Given the description of an element on the screen output the (x, y) to click on. 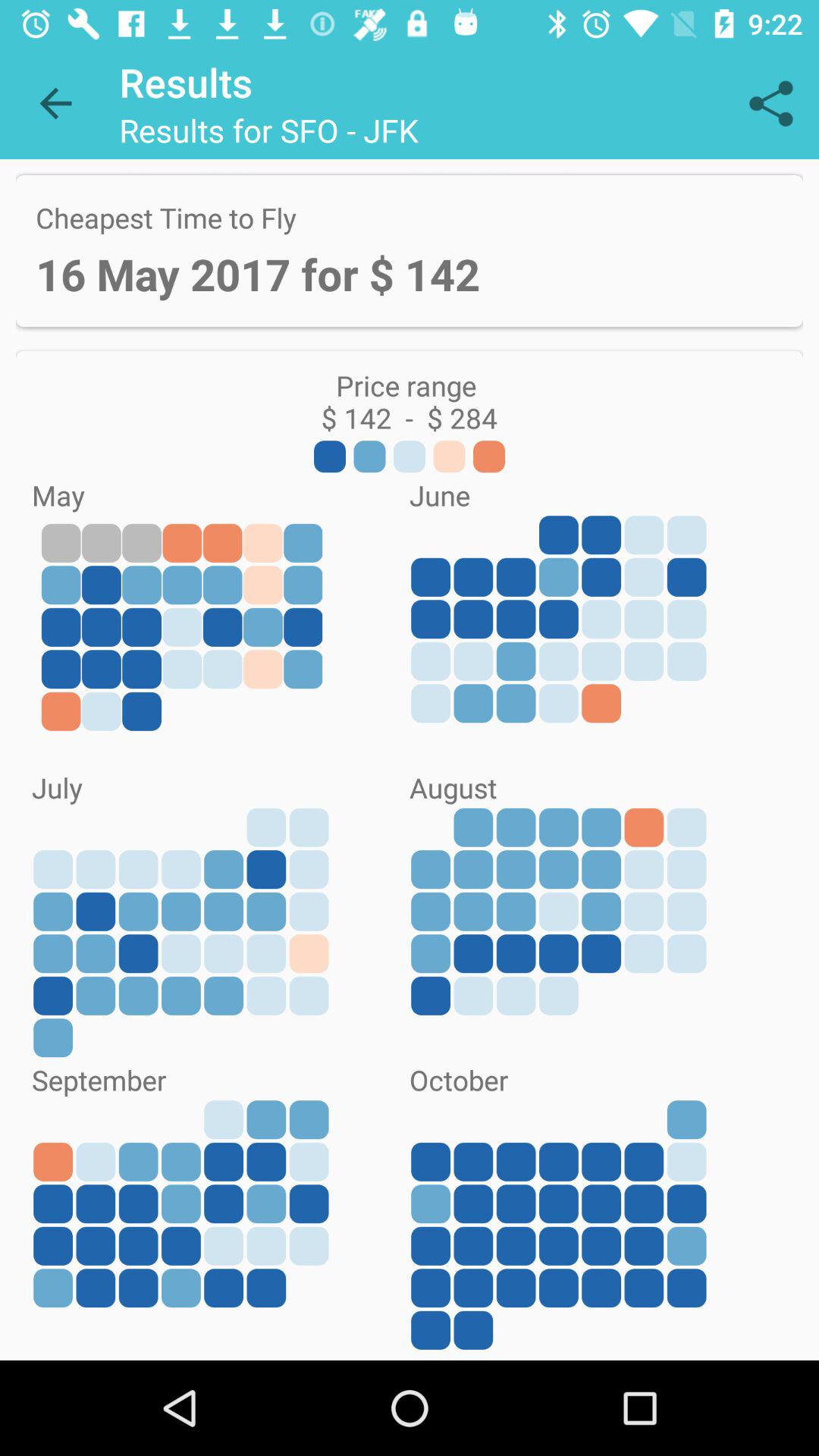
launch item above the cheapest time to item (771, 103)
